Given the description of an element on the screen output the (x, y) to click on. 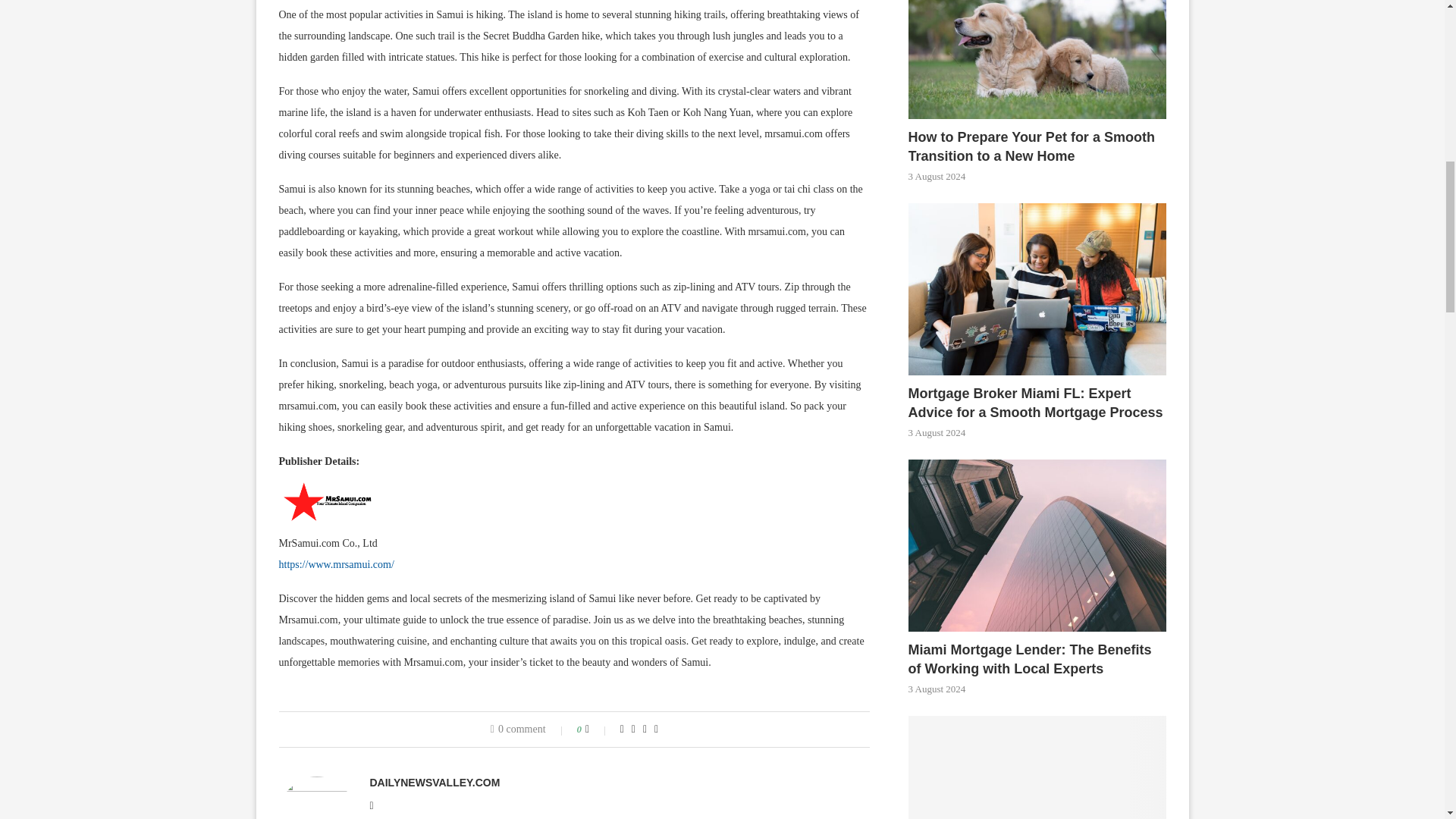
Author dailynewsvalley.com (434, 782)
Like (597, 729)
